Given the description of an element on the screen output the (x, y) to click on. 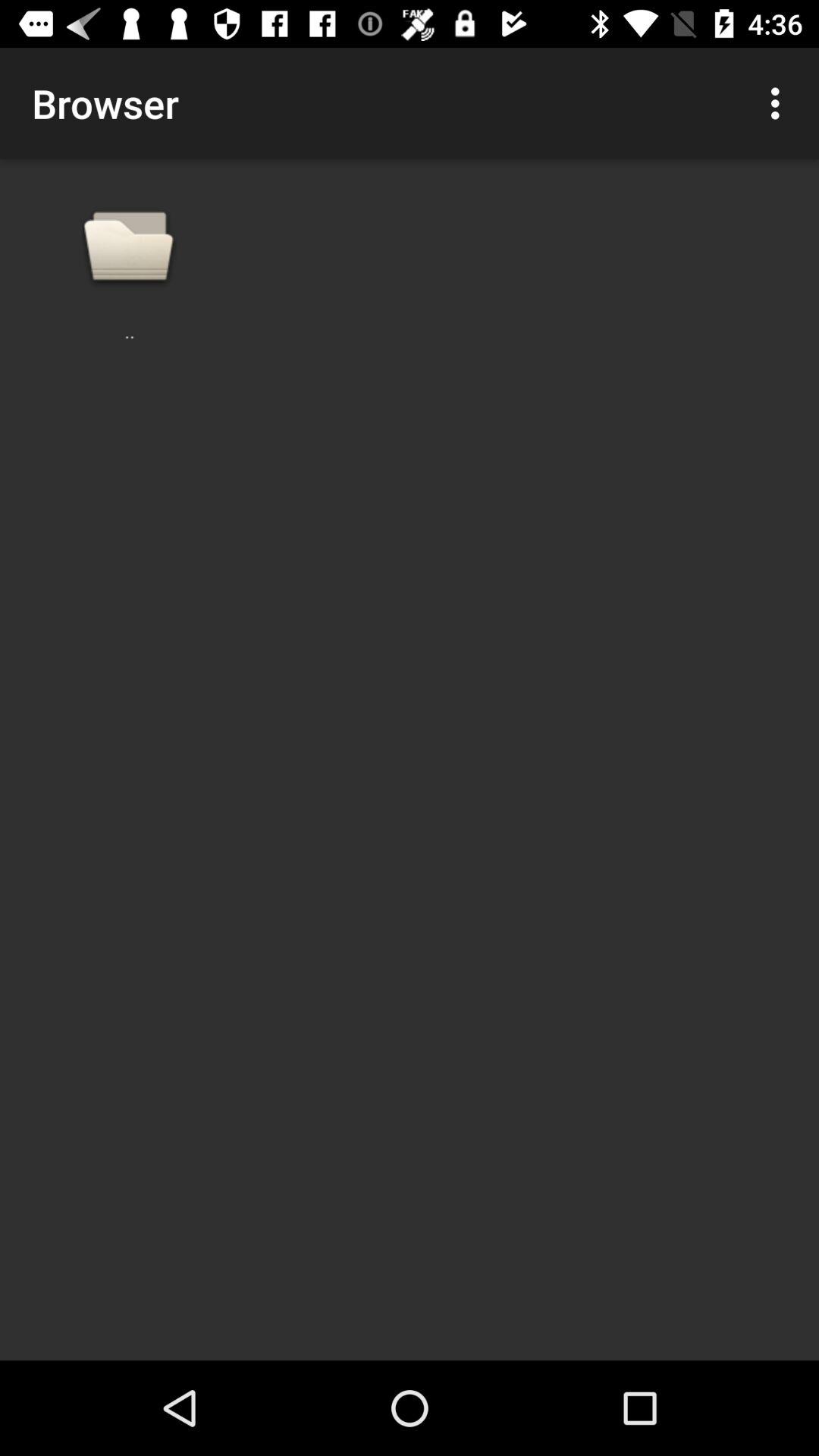
turn off item at the top right corner (779, 103)
